Given the description of an element on the screen output the (x, y) to click on. 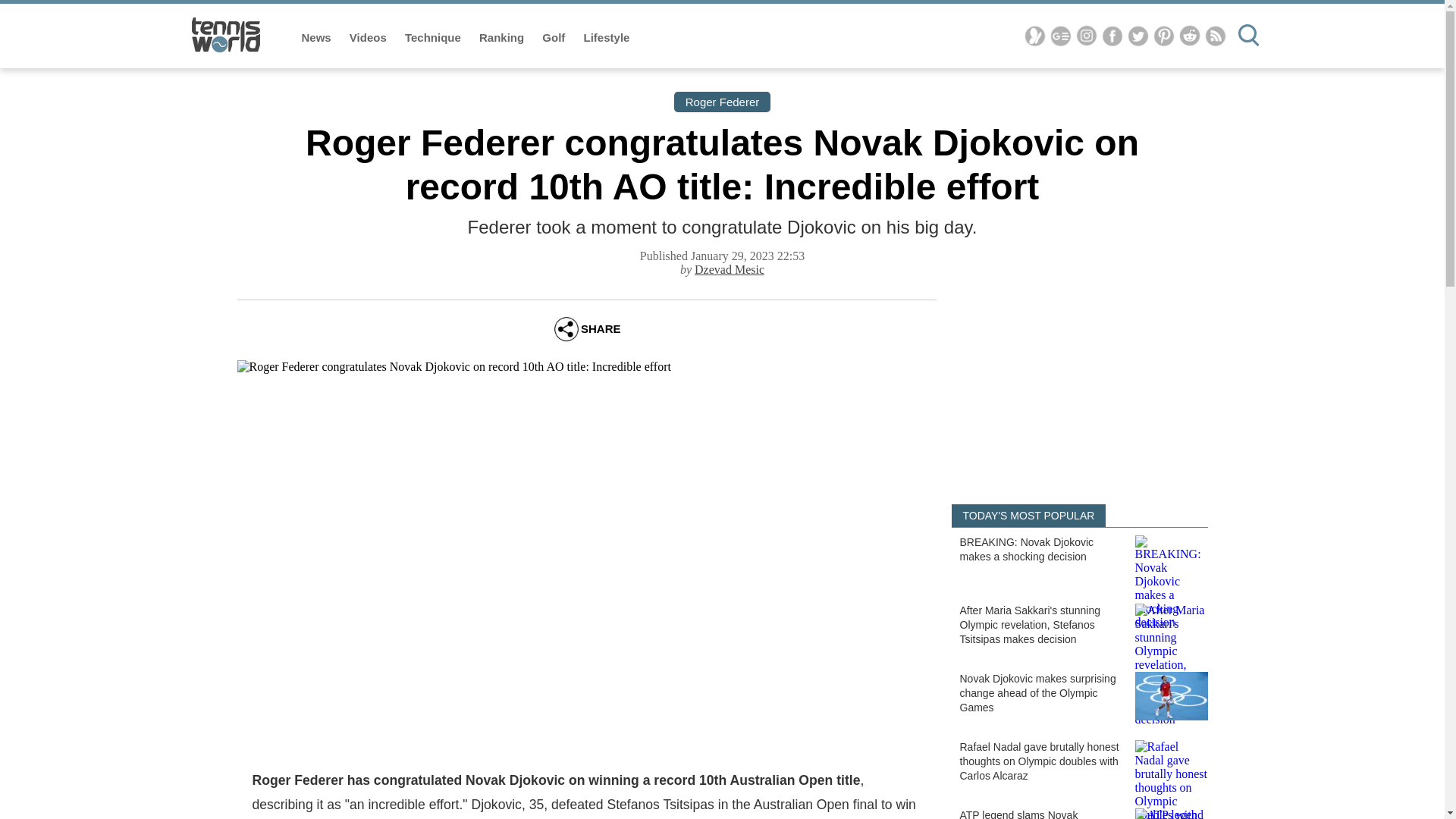
Videos (369, 37)
Golf (554, 37)
News (317, 37)
Lifestyle (606, 37)
Ranking (503, 37)
Technique (434, 37)
